Given the description of an element on the screen output the (x, y) to click on. 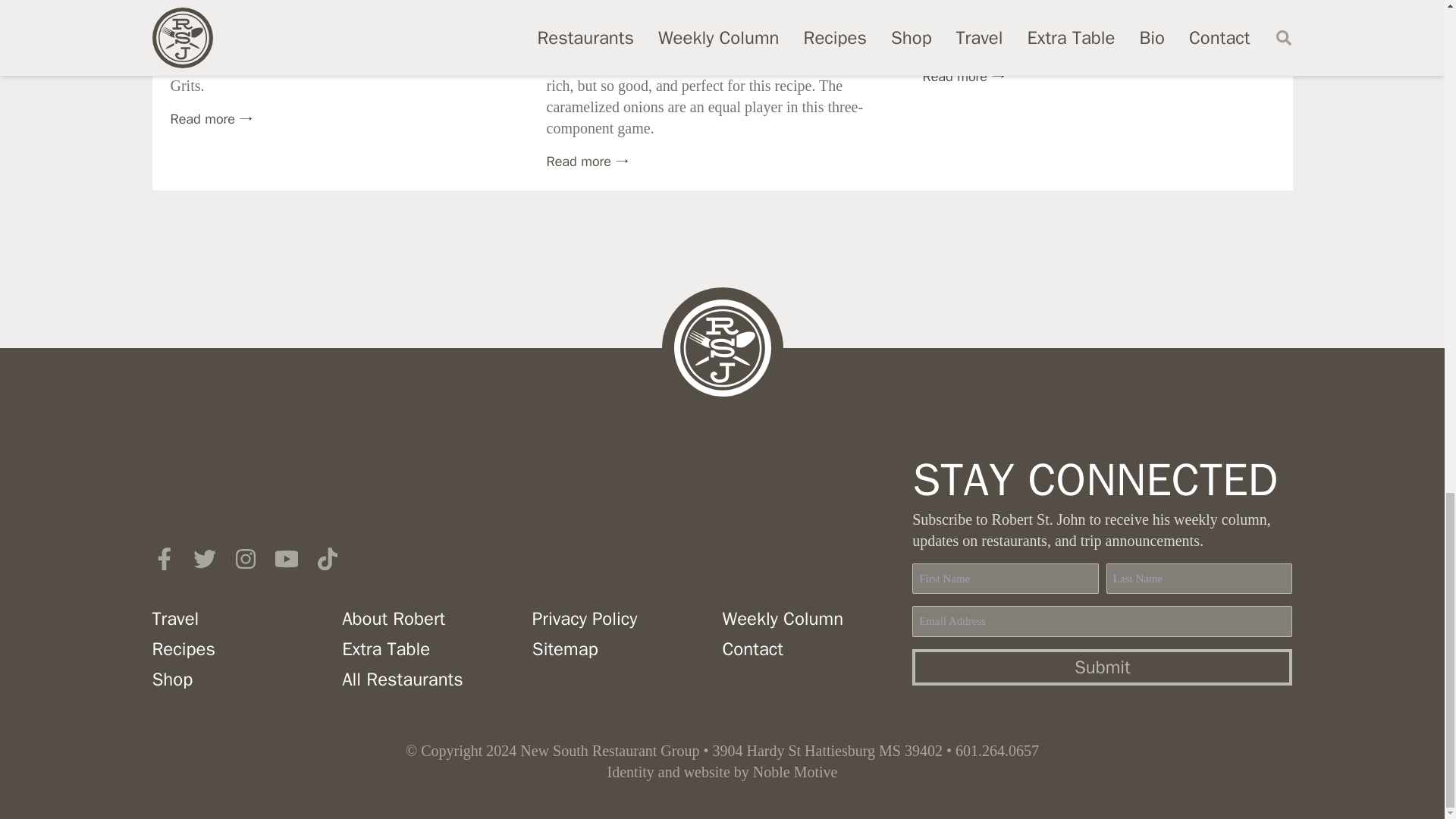
Read more (210, 118)
Youtube (286, 558)
Twitter (203, 558)
Instagram (244, 558)
Submit (1102, 667)
TikTok (326, 558)
Facebook (162, 558)
Read more (587, 160)
